Given the description of an element on the screen output the (x, y) to click on. 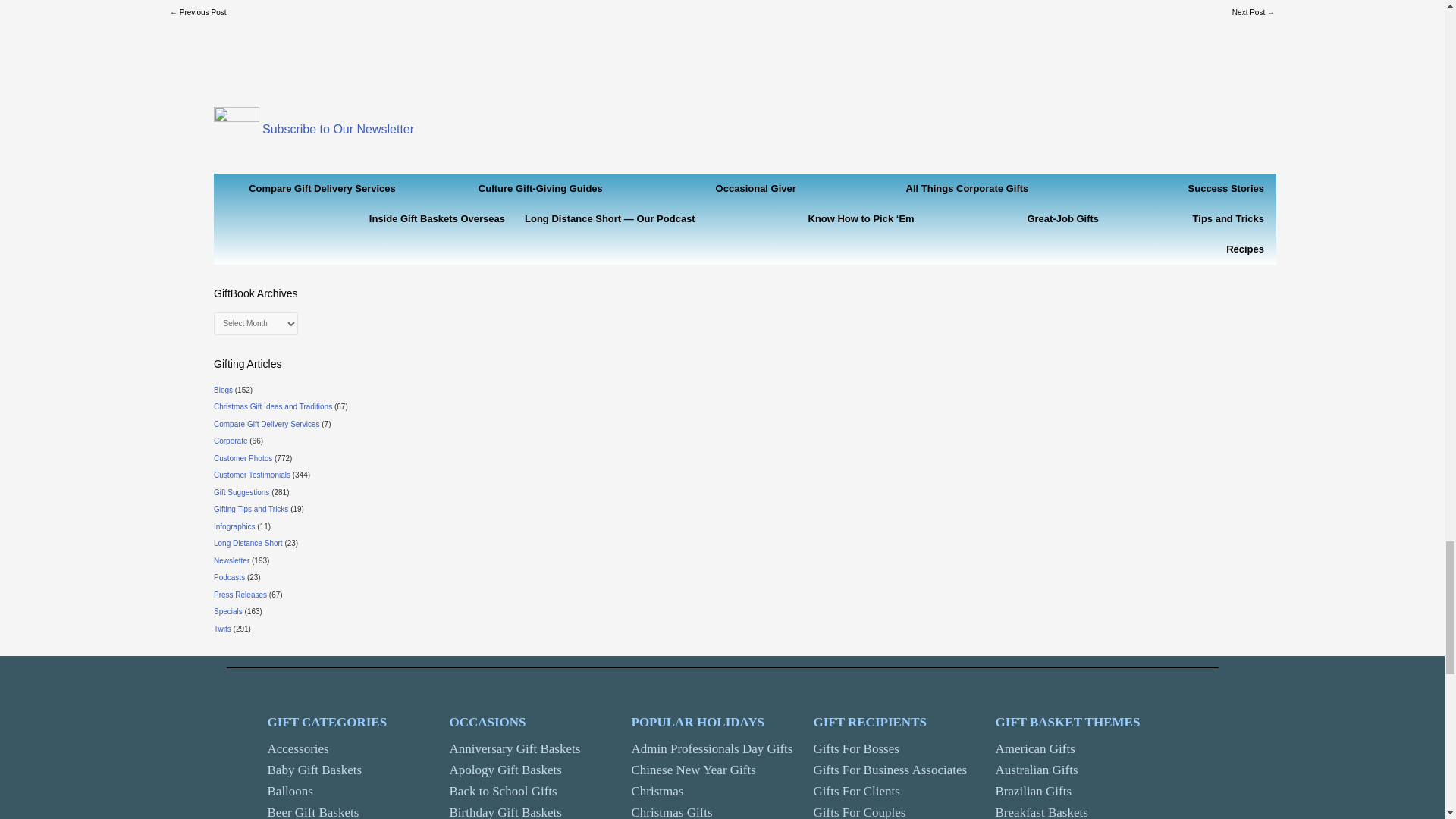
Beer Gift Baskets (312, 812)
Baby Gift Baskets (313, 769)
10 Tips for Leftover Halloween Candy With a Cultural Twist (1253, 13)
                       Culture Gift-Giving Guides (510, 188)
Balloons (289, 790)
Just Moved to the USA? Here's How To Be A Good Neighbor (197, 13)
Accessories (297, 748)
Subscribe to Our Newsletter (337, 128)
Compare Gift Delivery Services (324, 188)
